Given the description of an element on the screen output the (x, y) to click on. 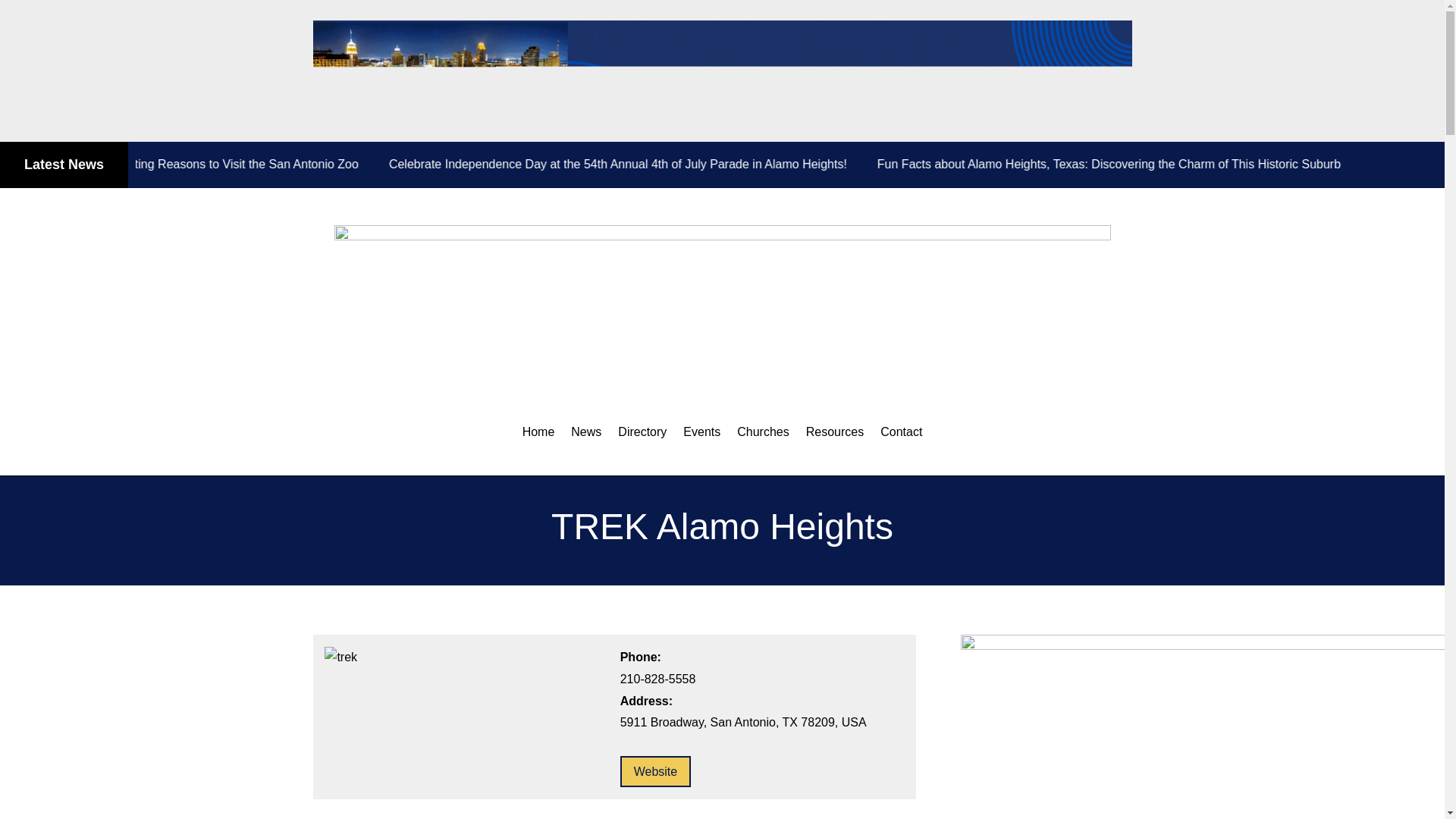
trek (340, 658)
Website (655, 771)
Website (655, 771)
Churches (762, 432)
5 Exciting Reasons to Visit the San Antonio Zoo (278, 164)
3 (722, 71)
Resources (834, 432)
